Given the description of an element on the screen output the (x, y) to click on. 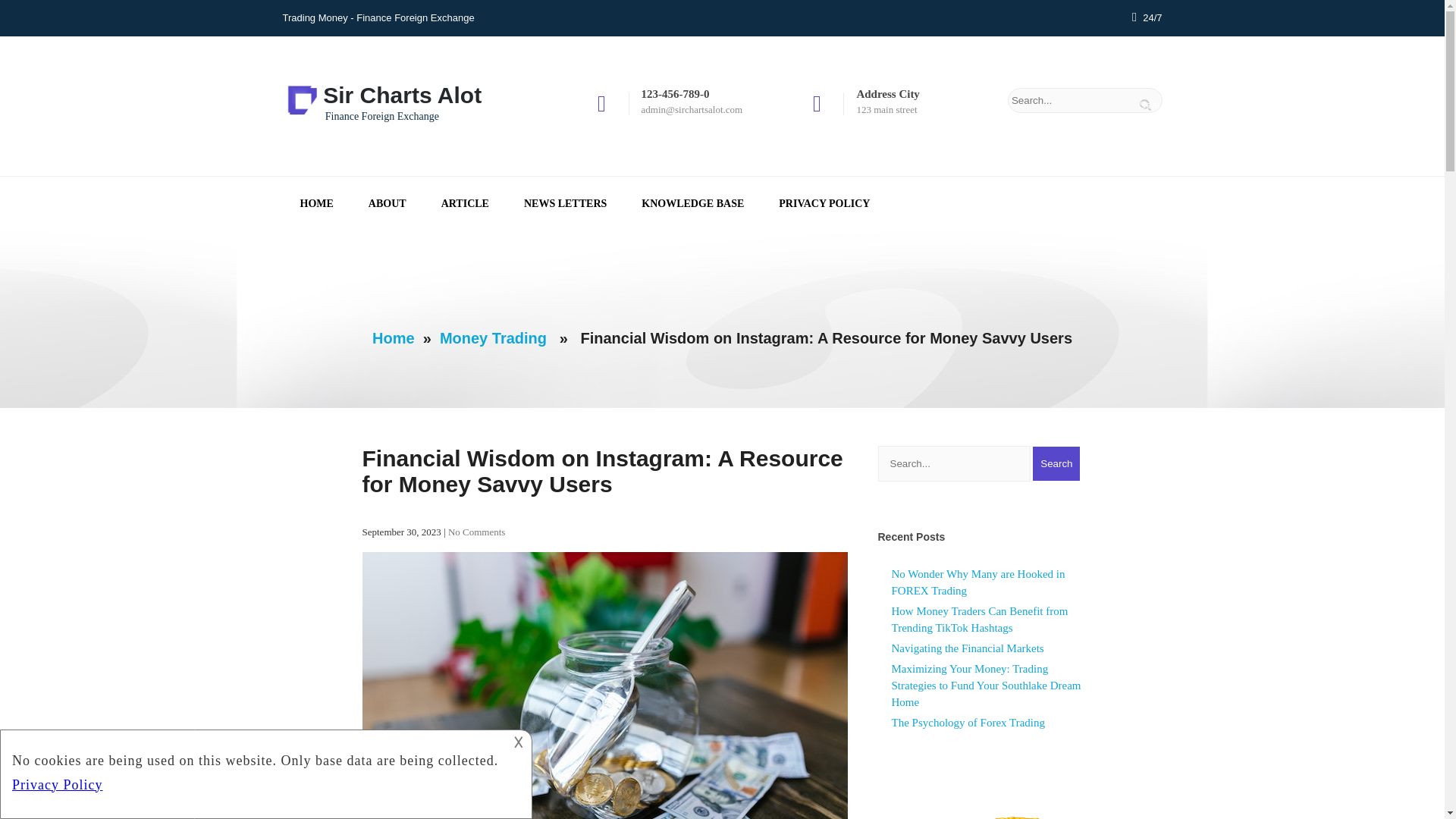
The Psychology of Forex Trading (968, 722)
ARTICLE (464, 203)
Search (1056, 463)
How Money Traders Can Benefit from Trending TikTok Hashtags (979, 619)
No Comments (476, 531)
Money Trading (493, 338)
No Wonder Why Many are Hooked in FOREX Trading (978, 582)
Search (1056, 463)
Navigating the Financial Markets (967, 648)
Search (1147, 104)
